Given the description of an element on the screen output the (x, y) to click on. 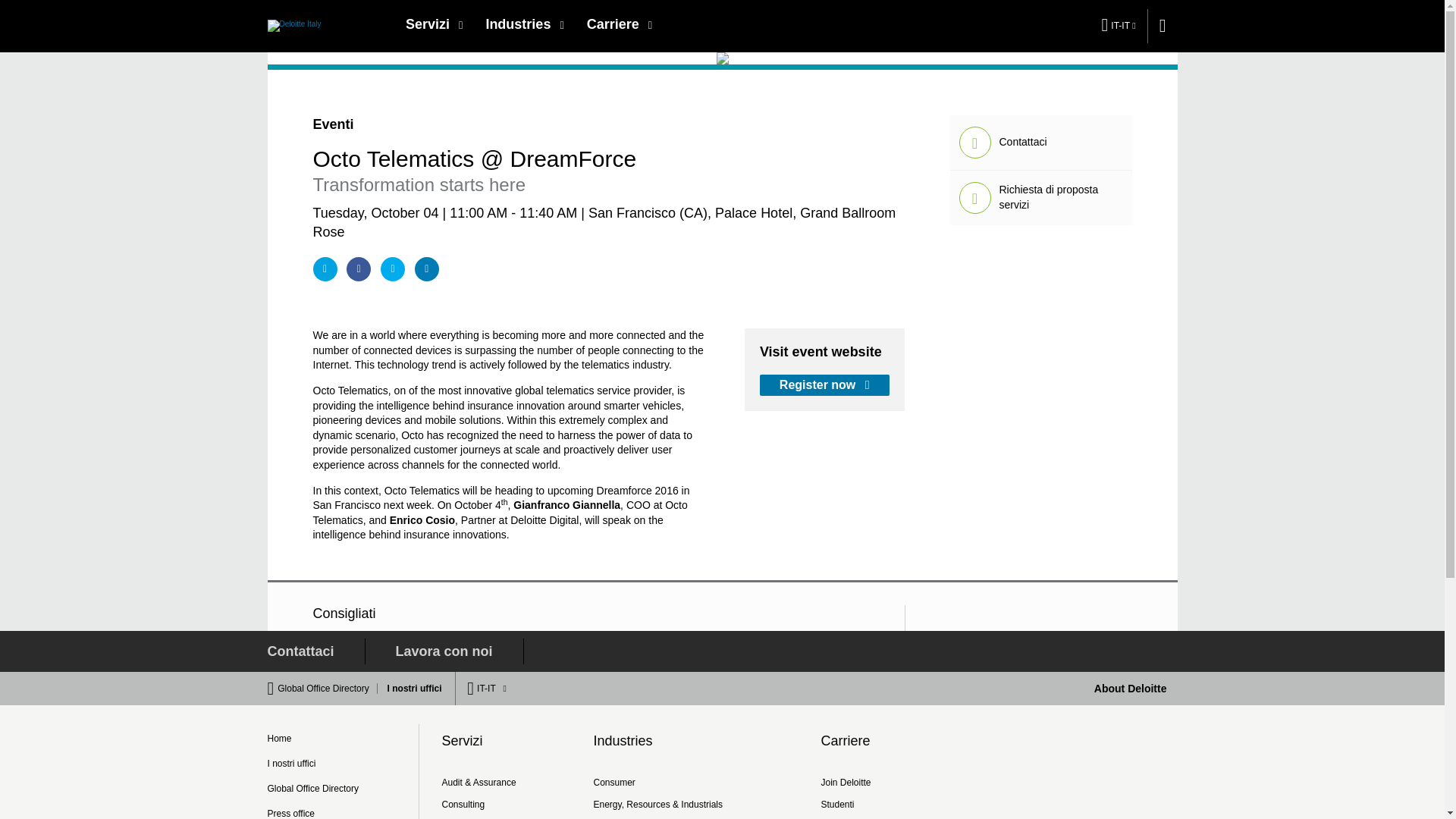
Condividi (426, 269)
Condividi (324, 269)
I nostri uffici (411, 688)
Industries (524, 24)
Deloitte Italy (293, 25)
Condividi (392, 269)
Global Office Directory (327, 688)
About Deloitte (1130, 688)
Servizi (434, 24)
Condividi (358, 269)
